Given the description of an element on the screen output the (x, y) to click on. 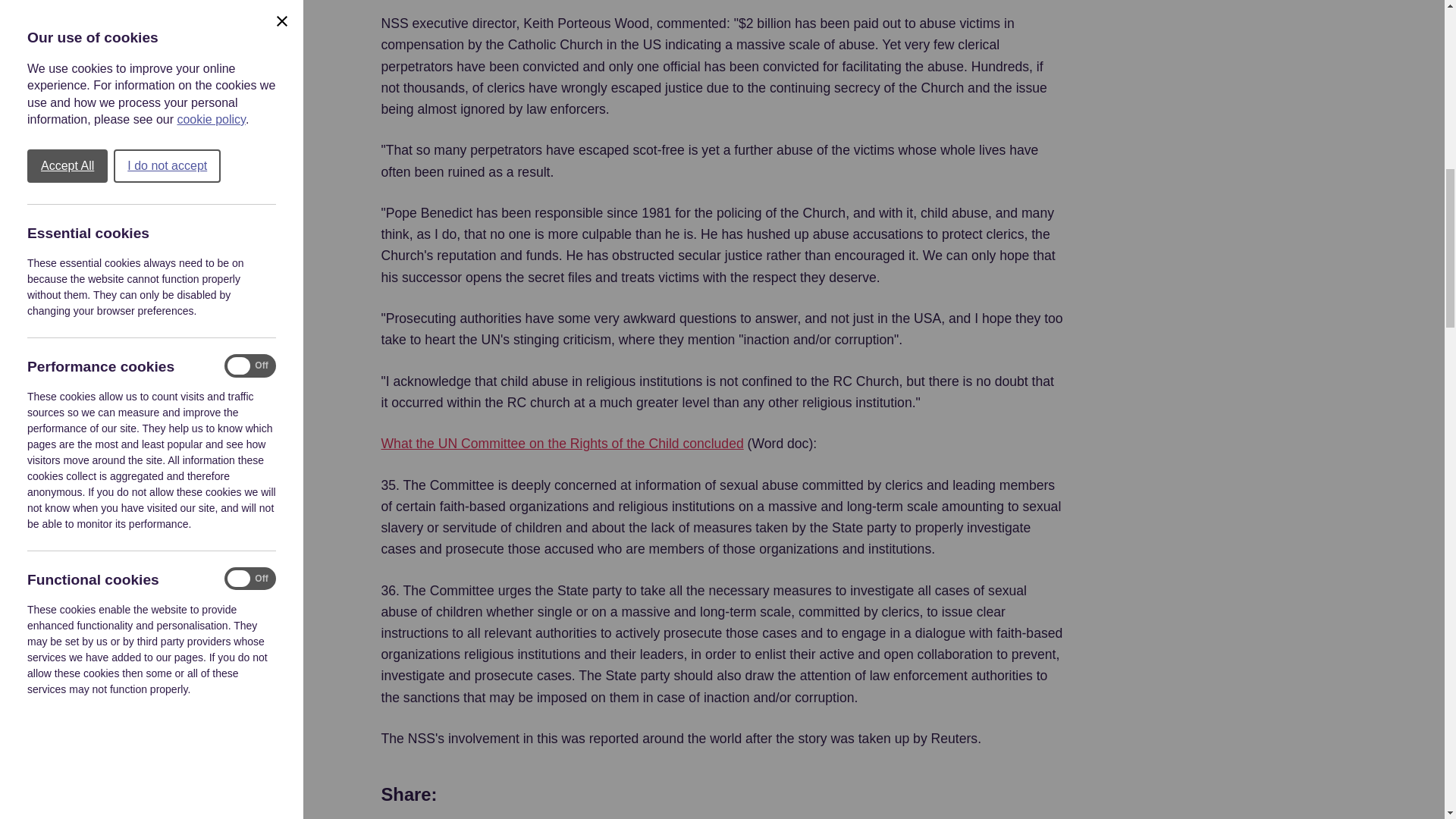
Share on Facebook (525, 794)
Share on Email (633, 794)
Share on What's App (472, 794)
What the UN Committee on the Rights of the Child concluded (561, 443)
Share on Twitter (579, 794)
